Given the description of an element on the screen output the (x, y) to click on. 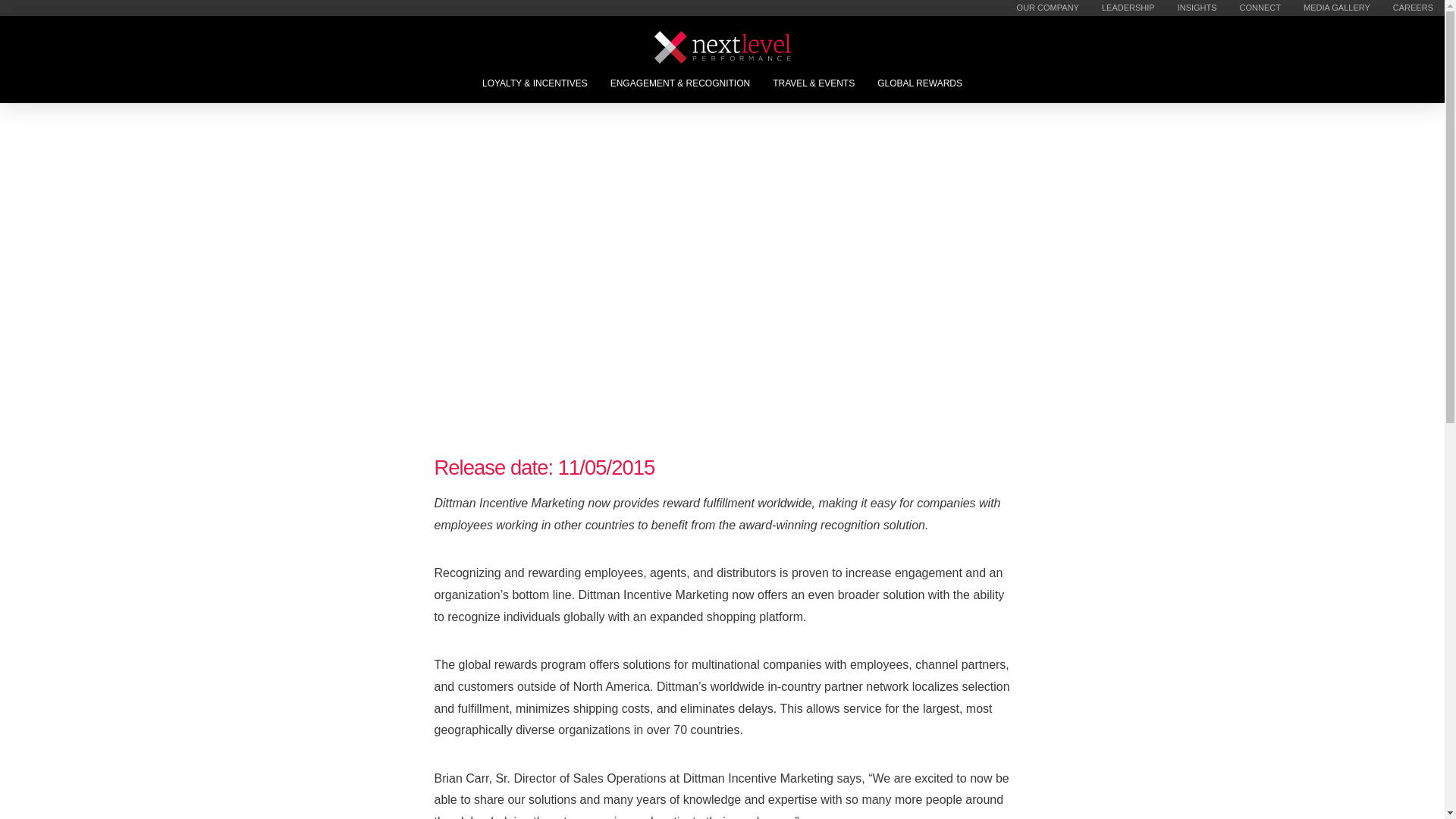
MEDIA GALLERY (1336, 7)
CONNECT (1260, 7)
LEADERSHIP (1128, 7)
GLOBAL REWARDS (920, 83)
OUR COMPANY (1048, 7)
INSIGHTS (1197, 7)
